Given the description of an element on the screen output the (x, y) to click on. 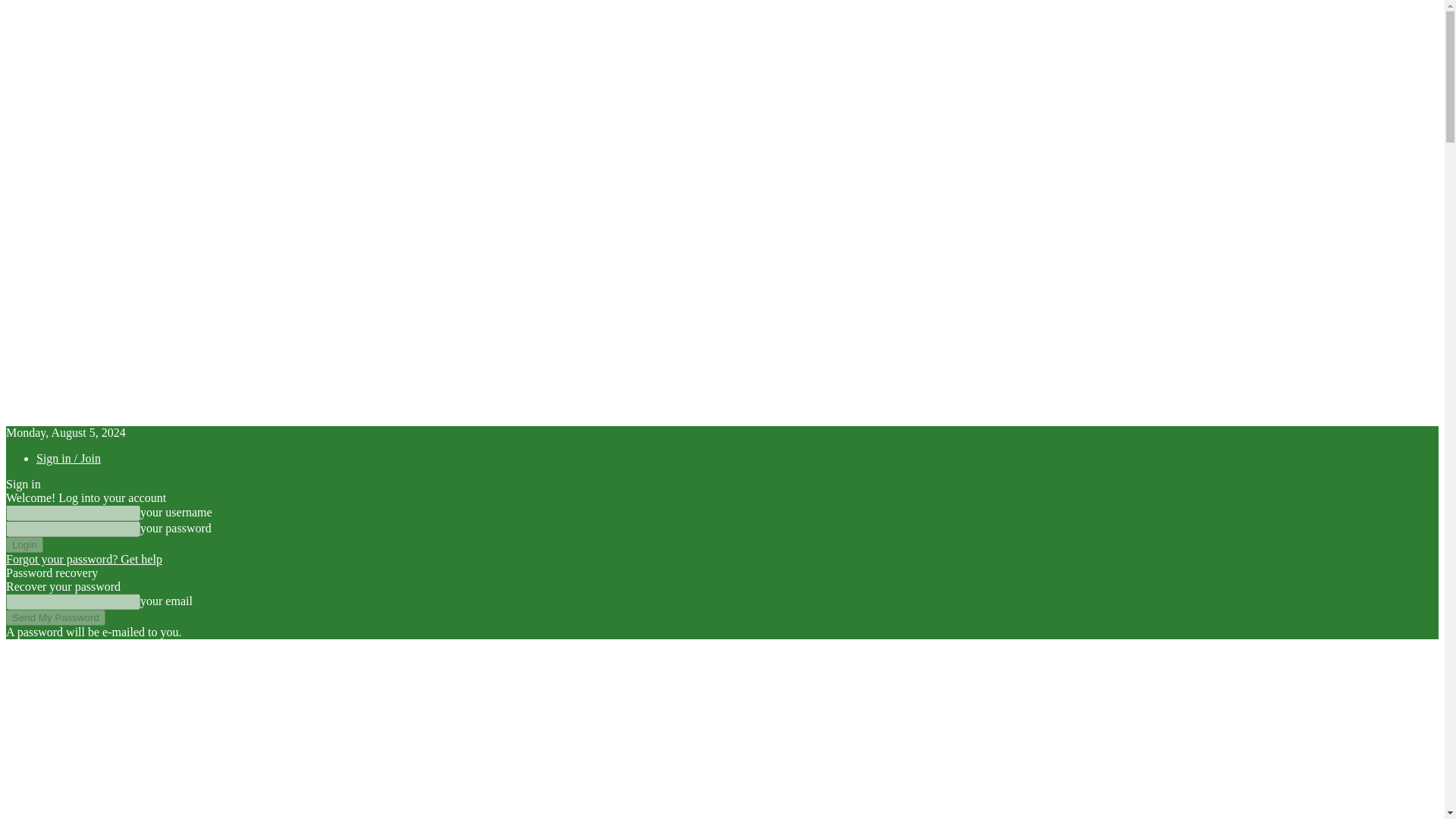
Forgot your password? Get help (83, 558)
Login (24, 544)
Send My Password (54, 617)
